Given the description of an element on the screen output the (x, y) to click on. 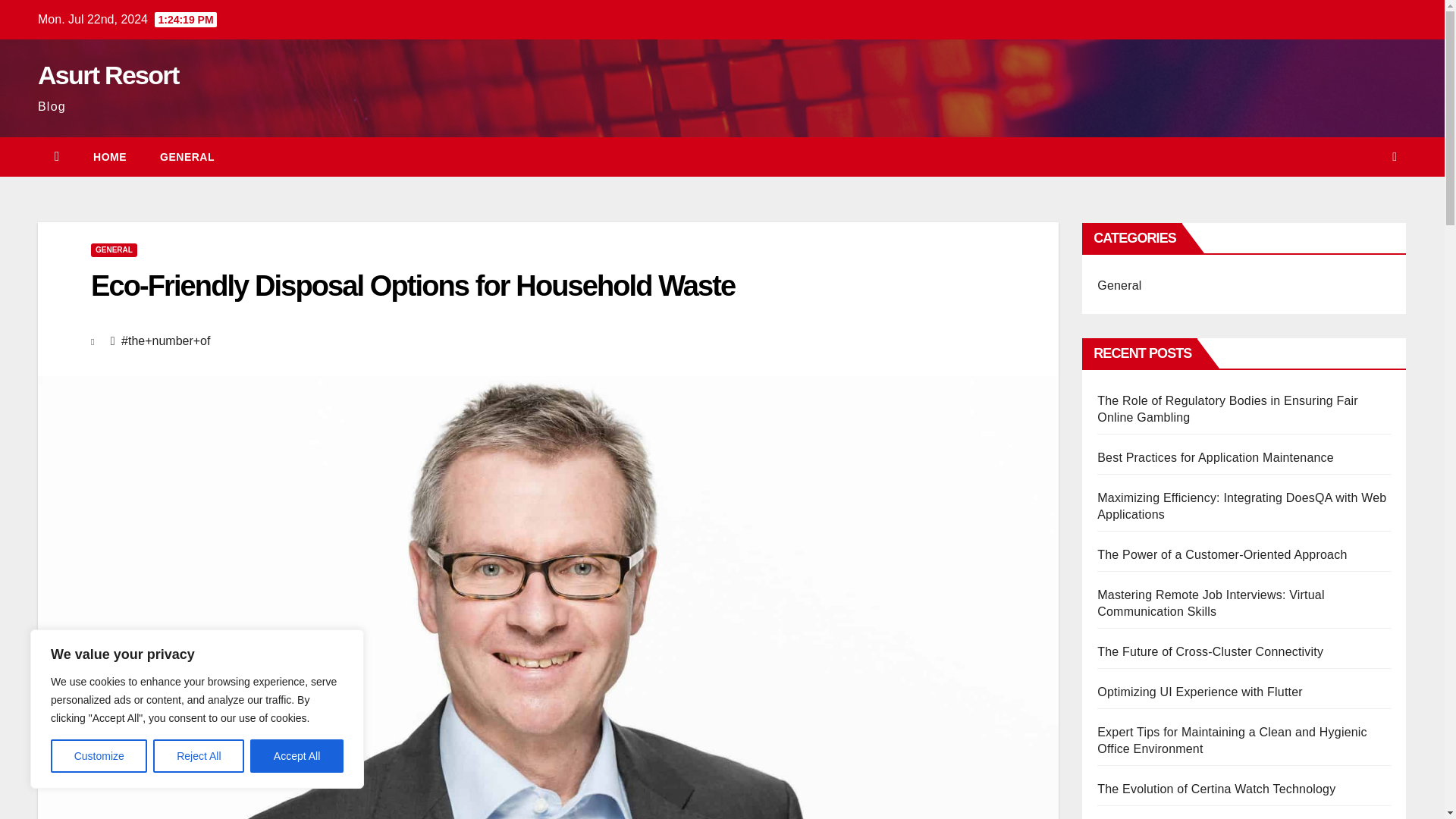
Customize (98, 756)
GENERAL (113, 250)
HOME (109, 156)
GENERAL (186, 156)
Home (109, 156)
General (186, 156)
Asurt Resort (108, 74)
Eco-Friendly Disposal Options for Household Waste (412, 286)
Reject All (198, 756)
Accept All (296, 756)
